Given the description of an element on the screen output the (x, y) to click on. 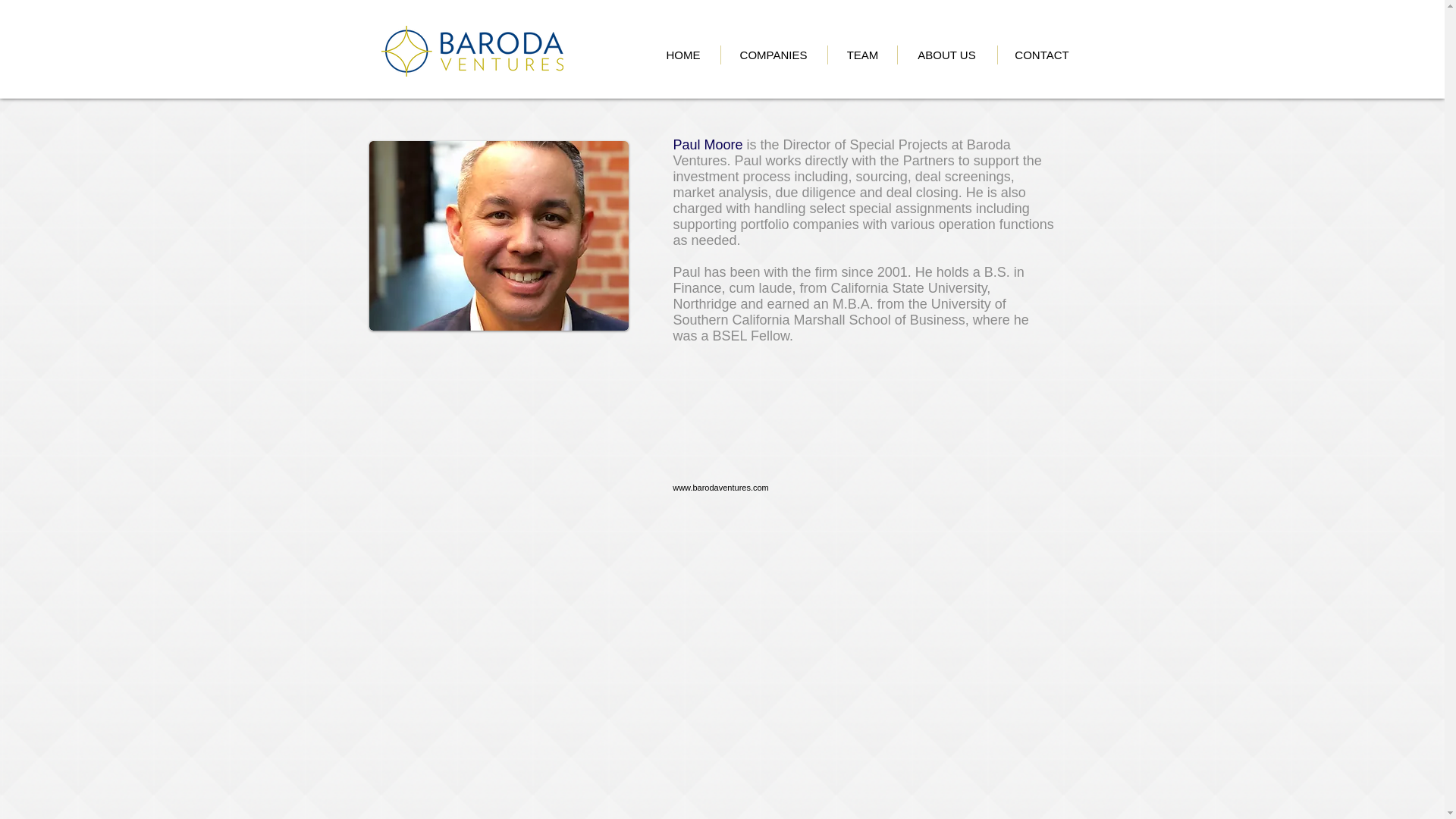
TEAM (862, 54)
BarodaVenturesLogo (471, 50)
www.barodaventures.com (720, 487)
COMPANIES (773, 54)
ABOUT US (946, 54)
HOME (682, 54)
CONTACT (1040, 54)
